Given the description of an element on the screen output the (x, y) to click on. 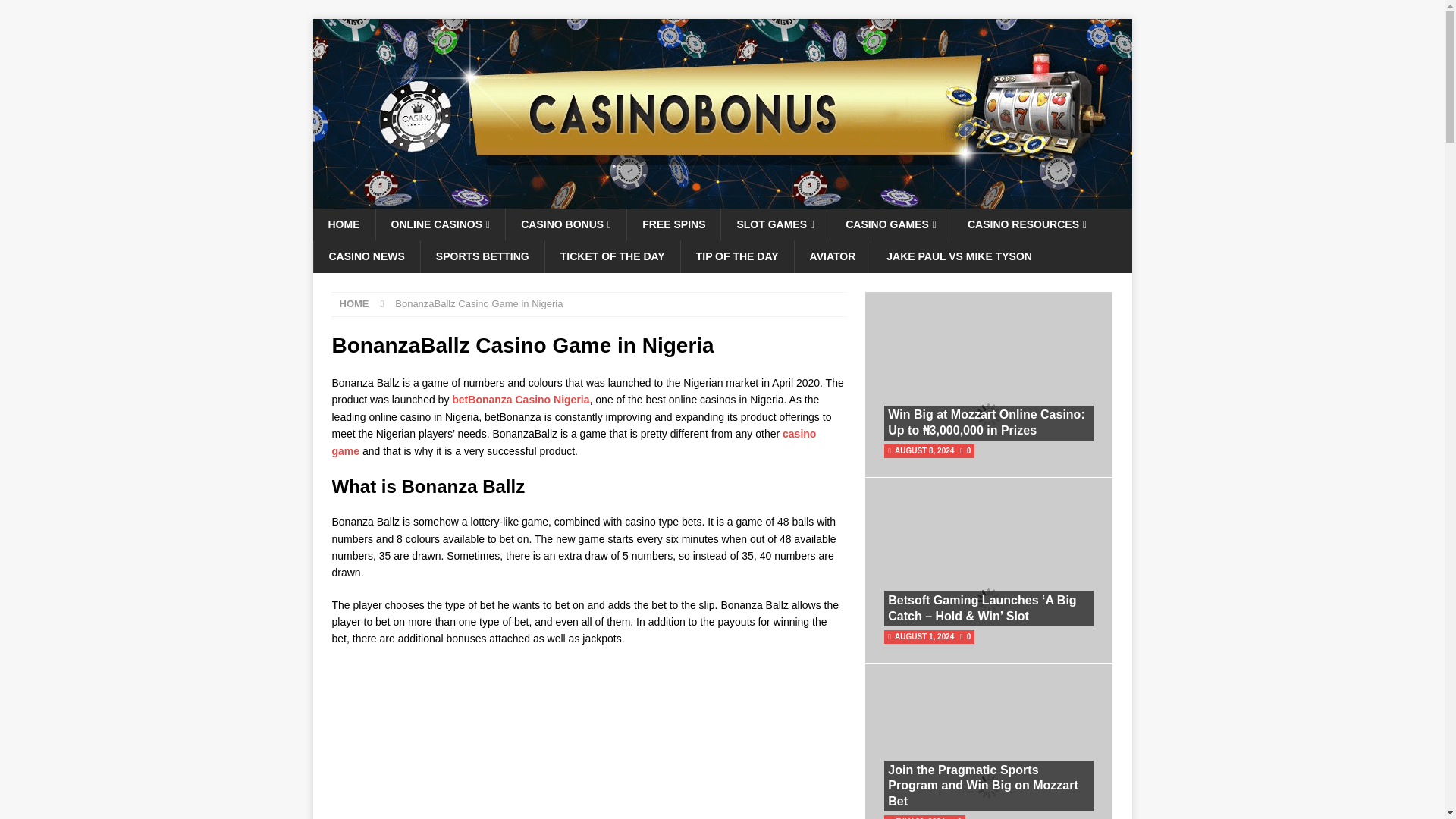
HOME (343, 224)
Join the Pragmatic Sports Program and Win Big on Mozzart Bet (983, 785)
Online Casino Bonus Nigeria (722, 200)
CASINO BONUS (565, 224)
ONLINE CASINOS (439, 224)
FREE SPINS (673, 224)
SLOT GAMES (774, 224)
